Given the description of an element on the screen output the (x, y) to click on. 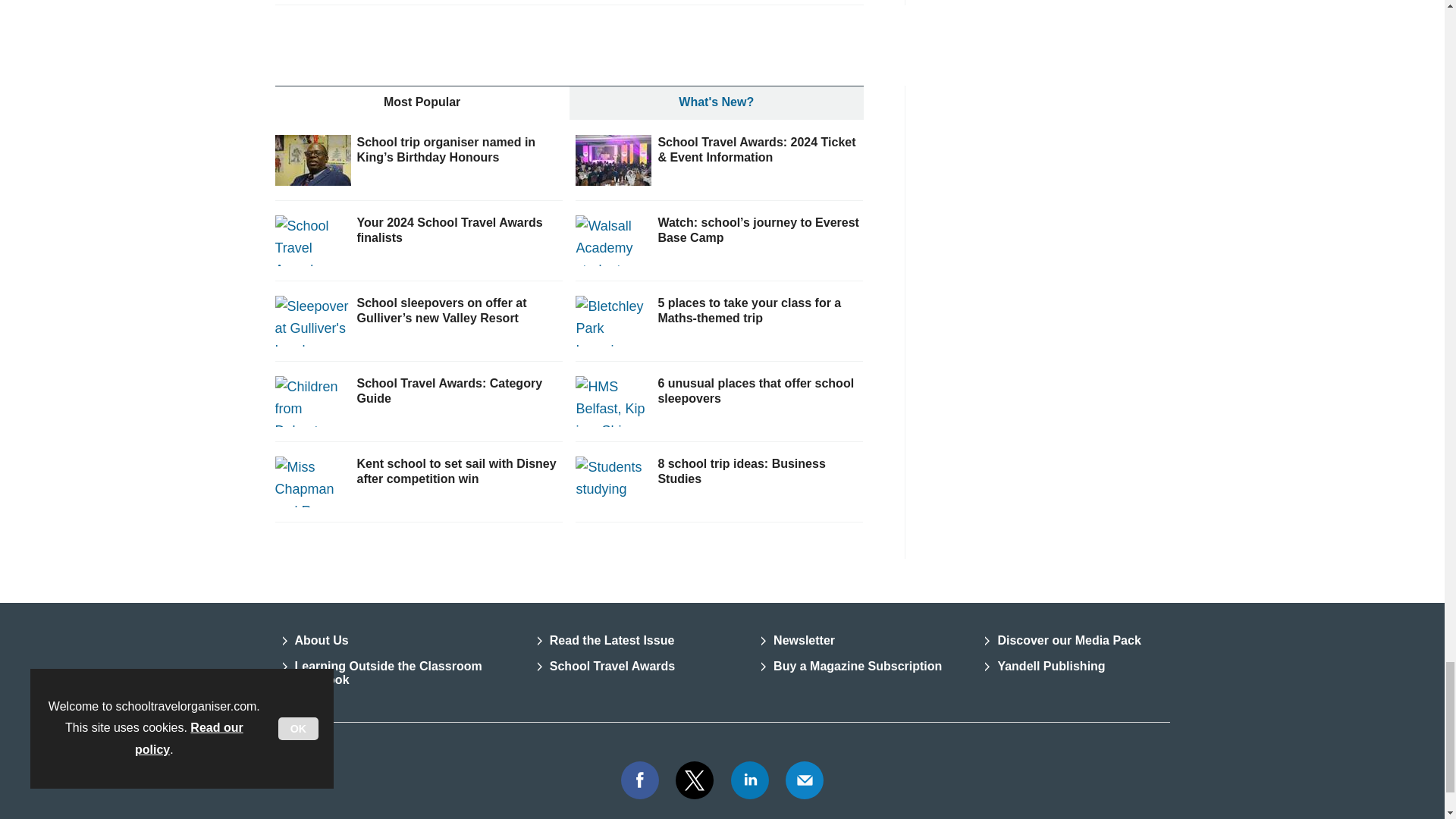
Email us (804, 780)
Like our Facebook page (639, 780)
Follow us on LinkedIn (750, 780)
